Given the description of an element on the screen output the (x, y) to click on. 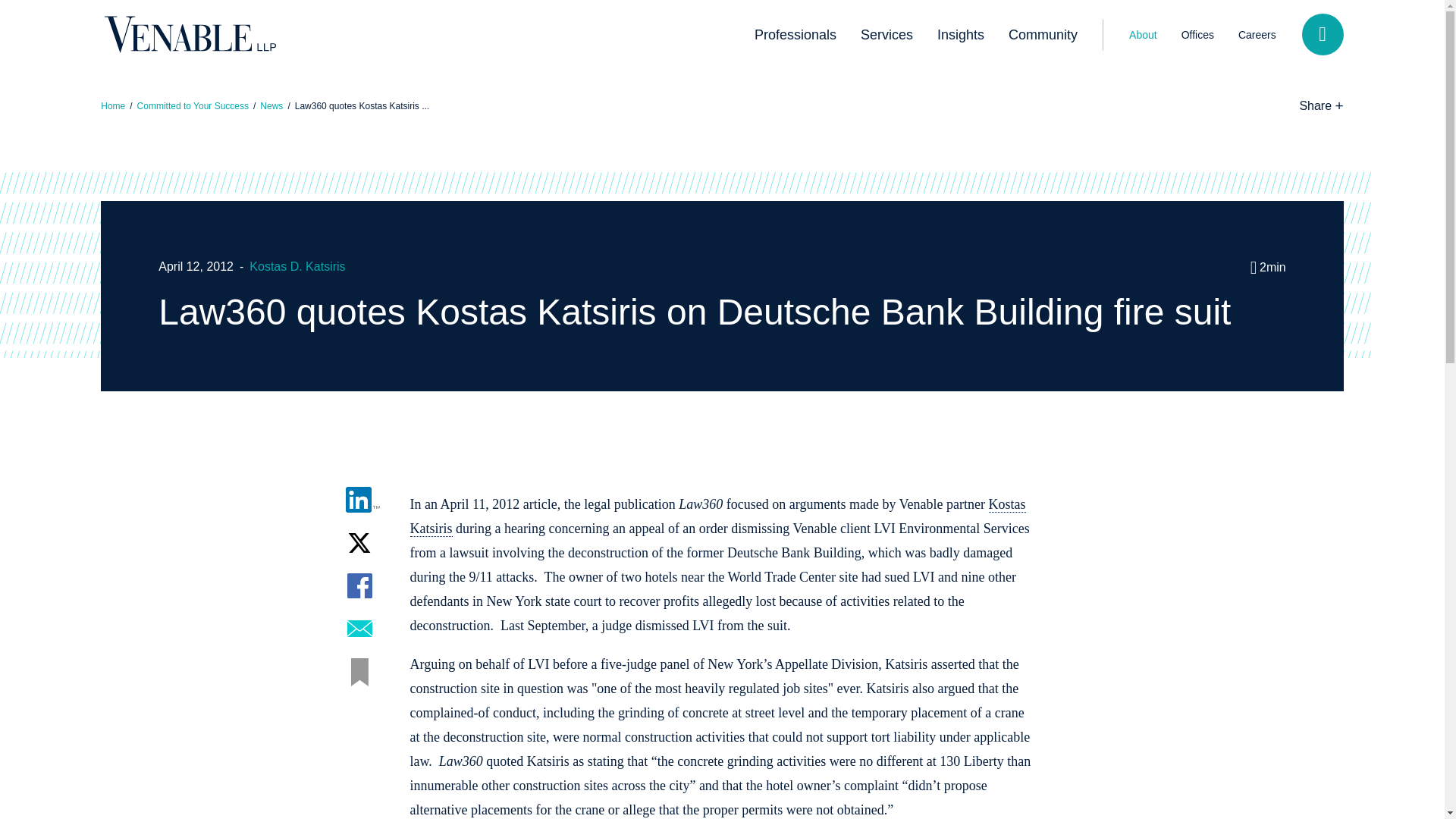
Professionals (795, 34)
Kostas Katsiris (717, 516)
Offices (1197, 34)
Kostas D. Katsiris (296, 266)
Careers (1256, 34)
News (271, 105)
Community (1042, 34)
About (1142, 34)
Committed to Your Success (192, 105)
Services (886, 34)
